Given the description of an element on the screen output the (x, y) to click on. 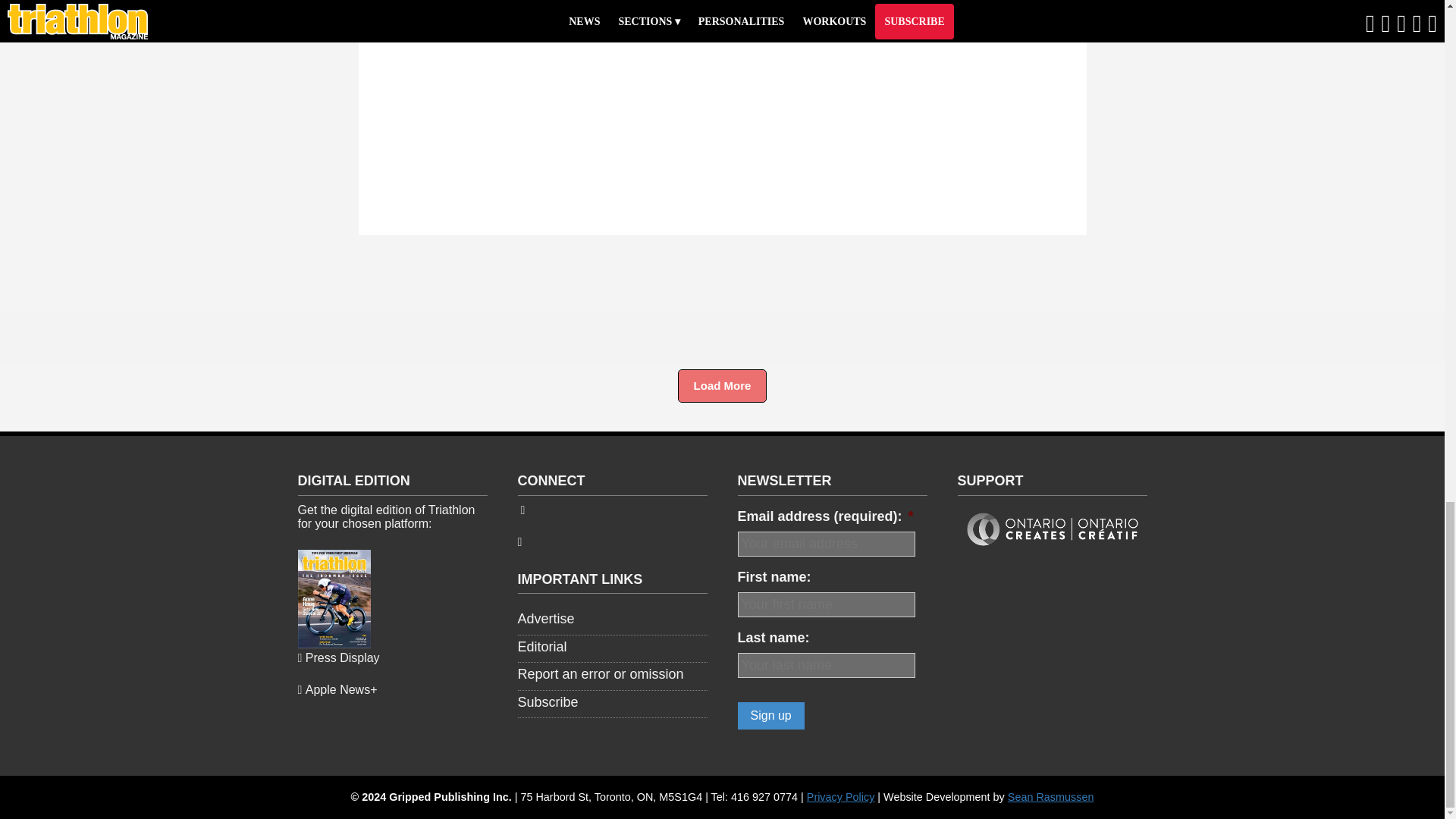
Press Display (337, 657)
Editorial (541, 646)
Load More (722, 386)
Advertise (544, 618)
Sign up (769, 715)
